Given the description of an element on the screen output the (x, y) to click on. 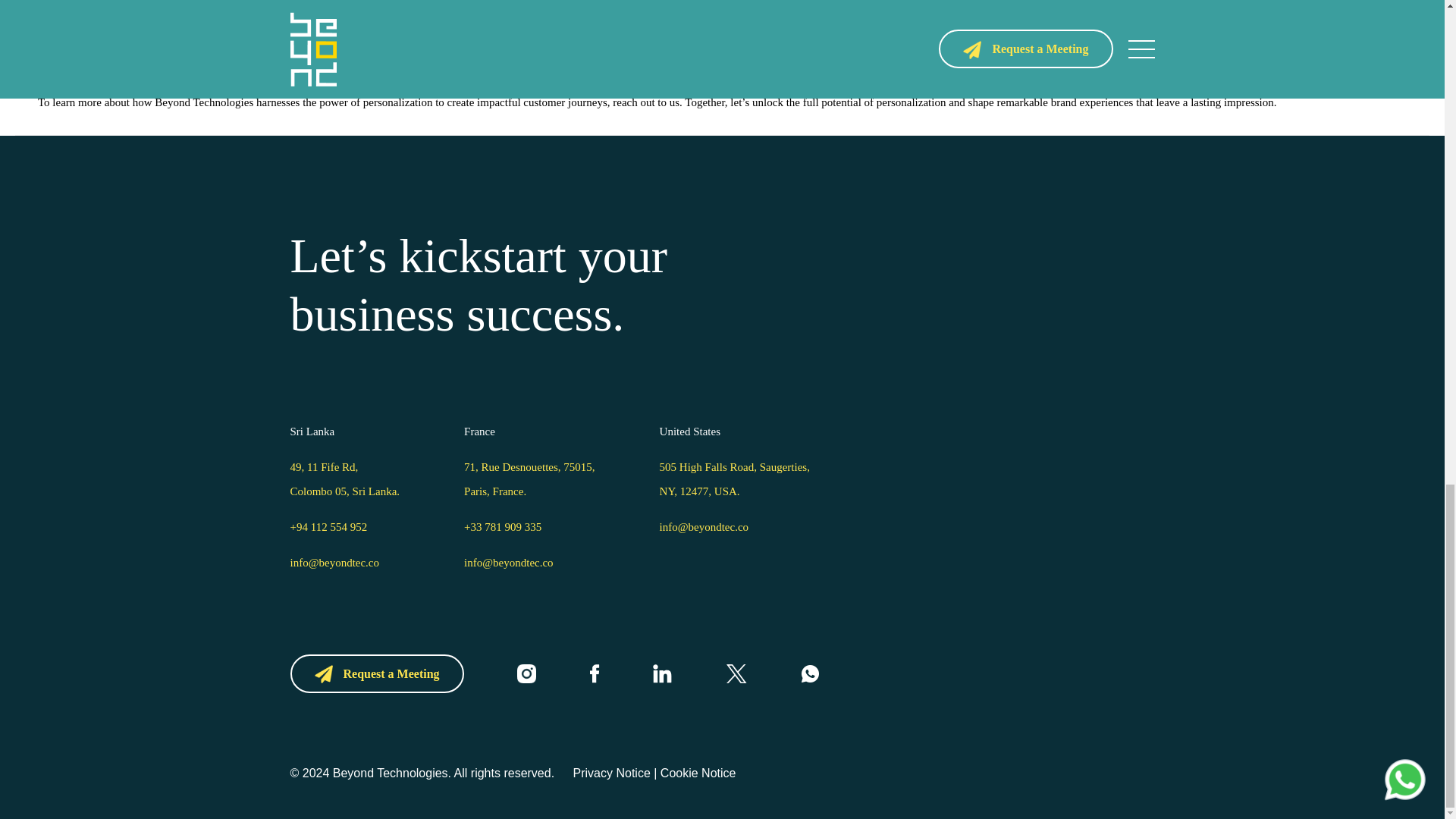
digital agency (124, 58)
Cookie Notice (698, 771)
Privacy Notice (603, 771)
Request a Meeting (376, 672)
